Given the description of an element on the screen output the (x, y) to click on. 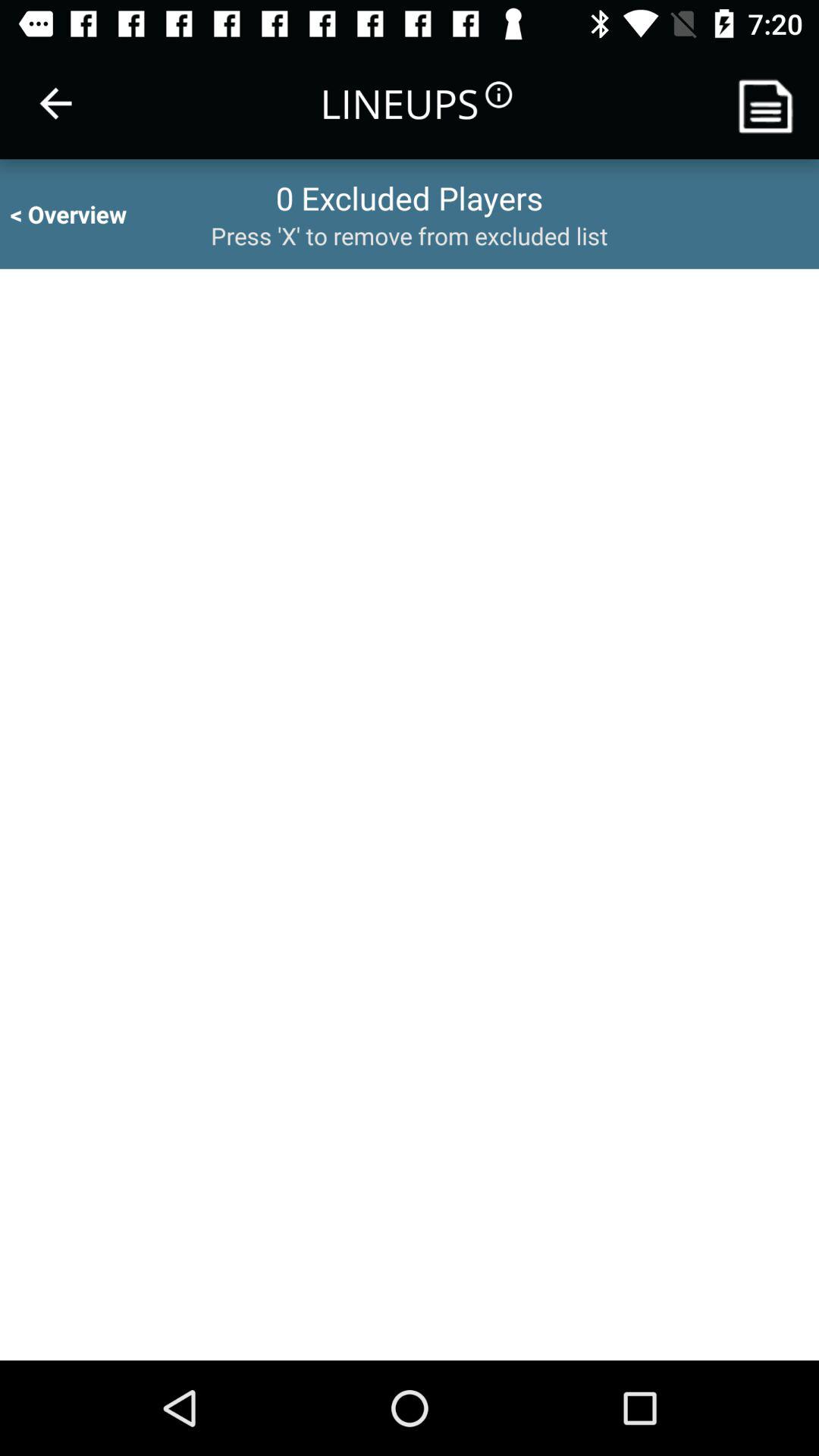
swipe to the < overview icon (81, 214)
